Given the description of an element on the screen output the (x, y) to click on. 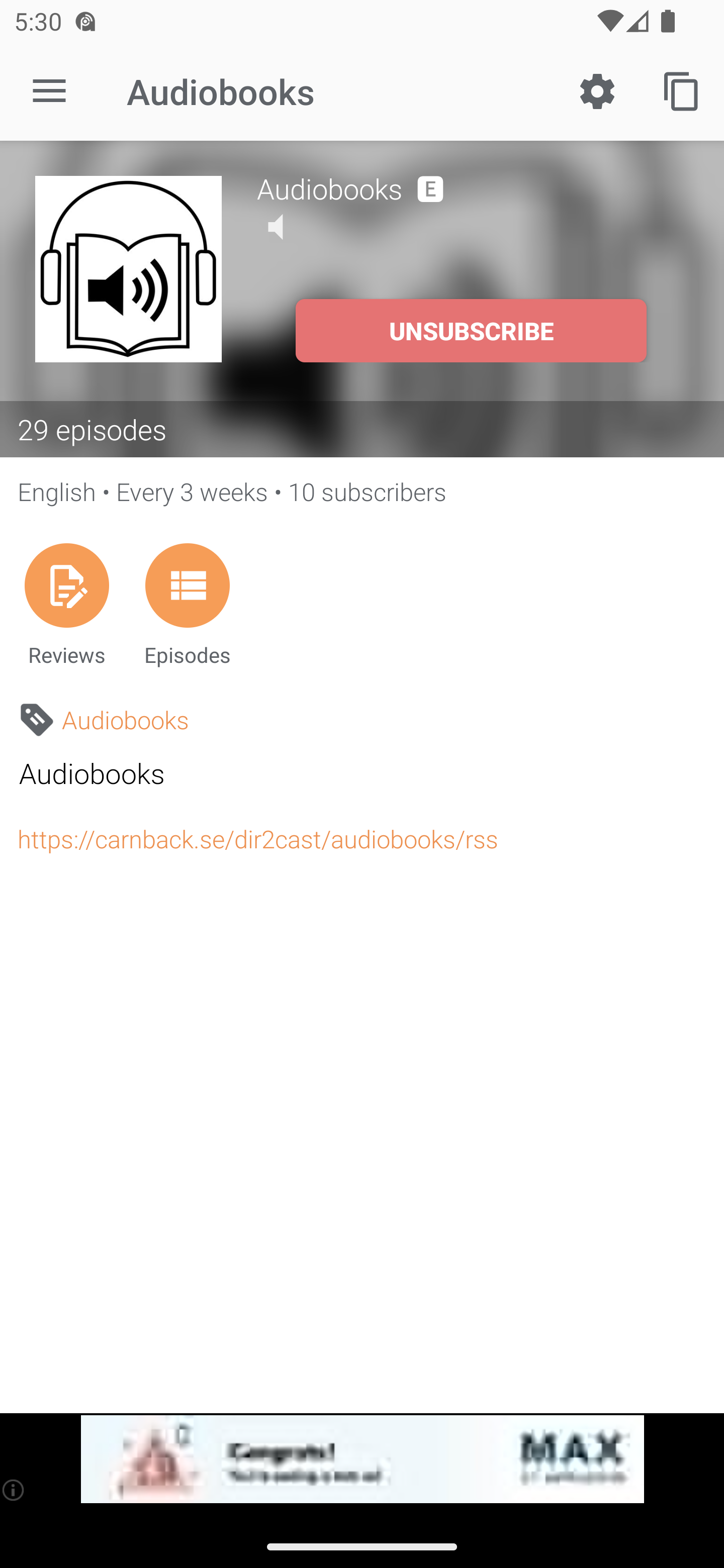
Open navigation sidebar (49, 91)
Settings (597, 90)
Copy feed url to clipboard (681, 90)
Audiobooks  🅴 (472, 186)
UNSUBSCRIBE (470, 330)
Reviews (66, 604)
Episodes (187, 604)
app-monetization (362, 1459)
(i) (14, 1489)
